Given the description of an element on the screen output the (x, y) to click on. 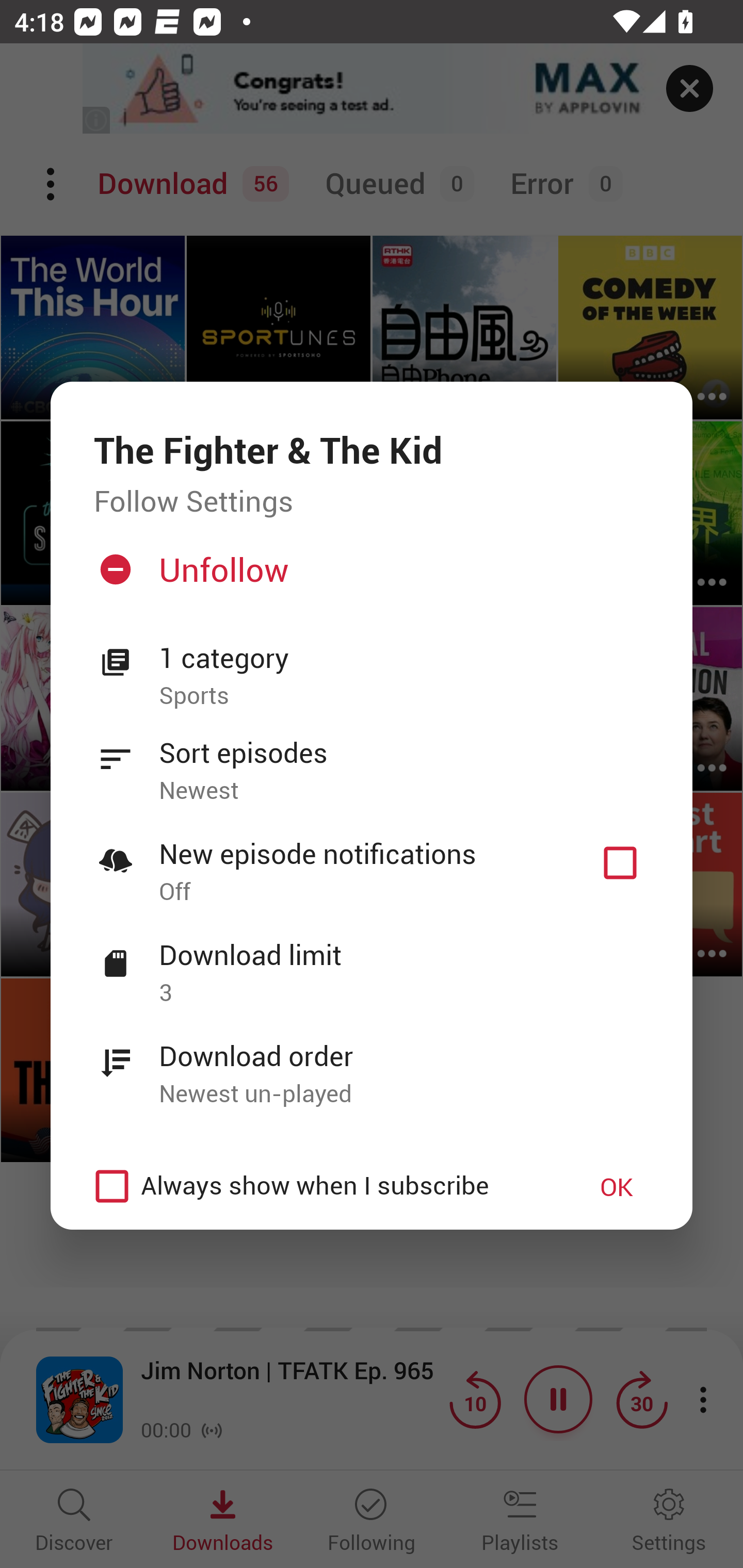
Unfollow (369, 576)
1 category (404, 658)
Sports (404, 696)
Sort episodes Newest (371, 760)
New episode notifications (620, 863)
Download limit 3 (371, 962)
Download order Newest un-played (371, 1063)
OK (616, 1186)
Always show when I subscribe (320, 1186)
